Given the description of an element on the screen output the (x, y) to click on. 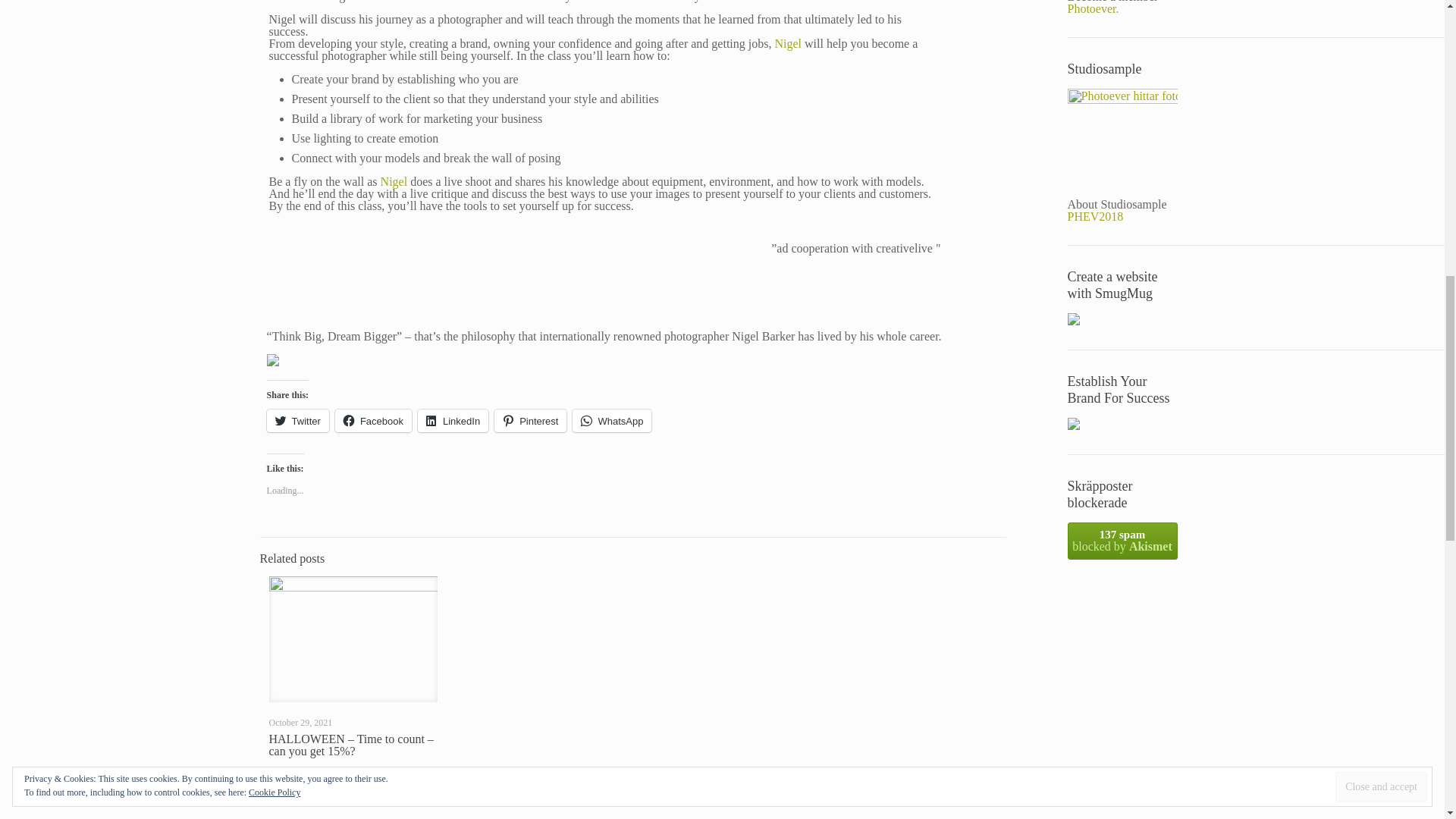
Click to share on LinkedIn (452, 420)
Click to share on Facebook (373, 420)
Photoever hittar fotografen (1122, 143)
Click to share on Pinterest (530, 420)
Click to share on WhatsApp (611, 420)
Click to share on Twitter (297, 420)
